Given the description of an element on the screen output the (x, y) to click on. 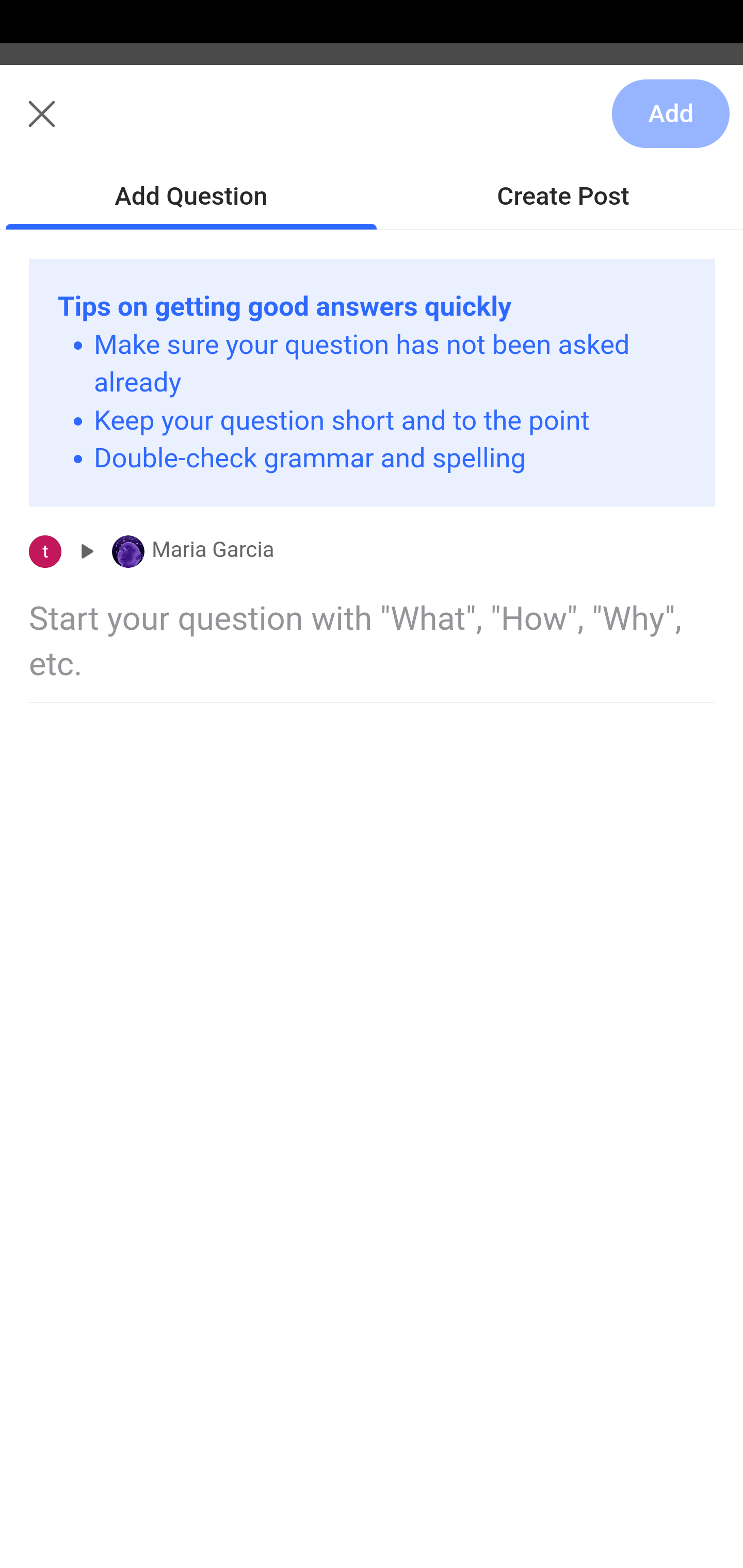
Back Maria Garcia (371, 125)
Back (30, 125)
